Given the description of an element on the screen output the (x, y) to click on. 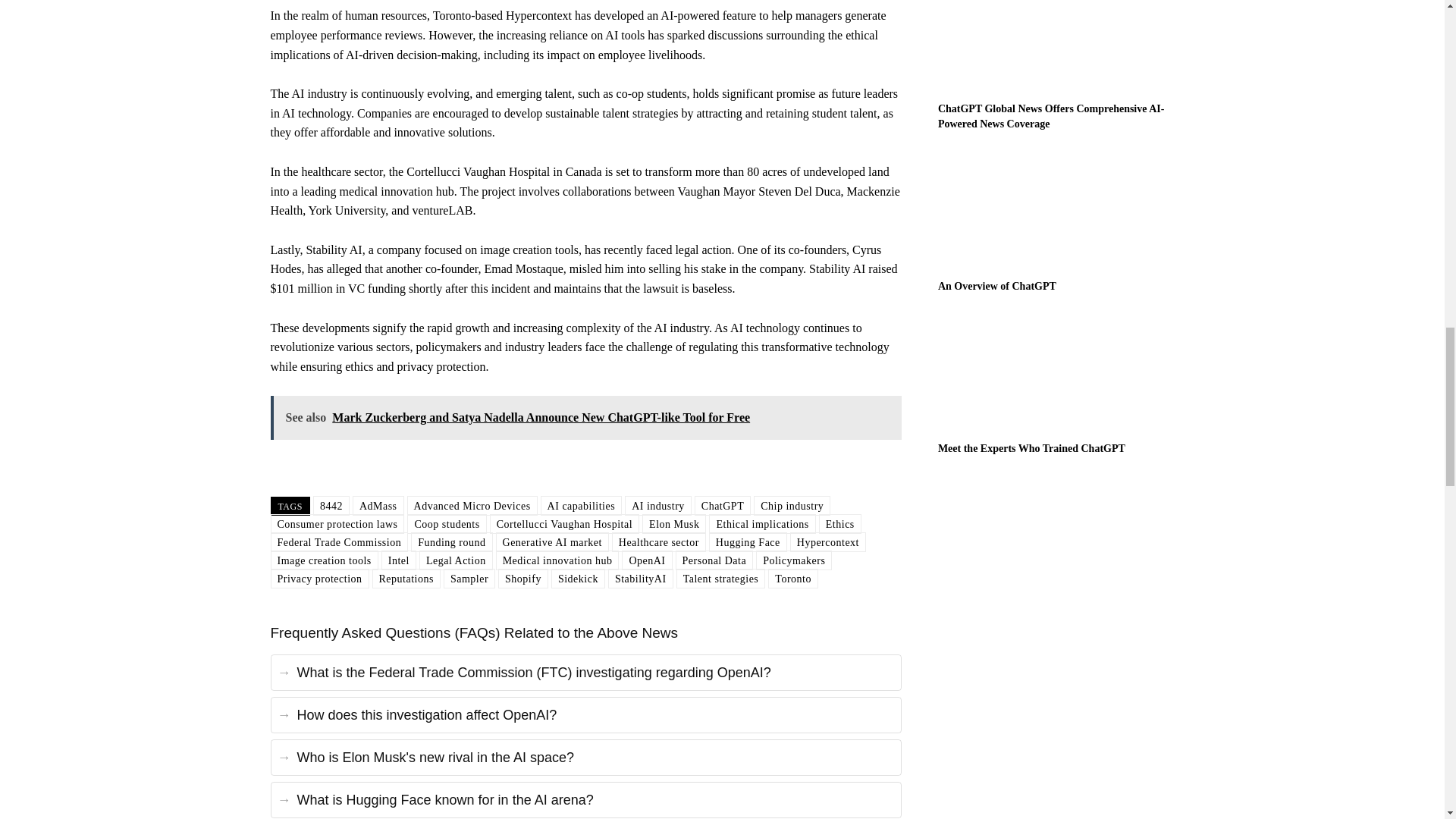
Meet the Experts Who Trained ChatGPT (1055, 372)
An Overview of ChatGPT (997, 285)
An Overview of ChatGPT (1055, 209)
